Given the description of an element on the screen output the (x, y) to click on. 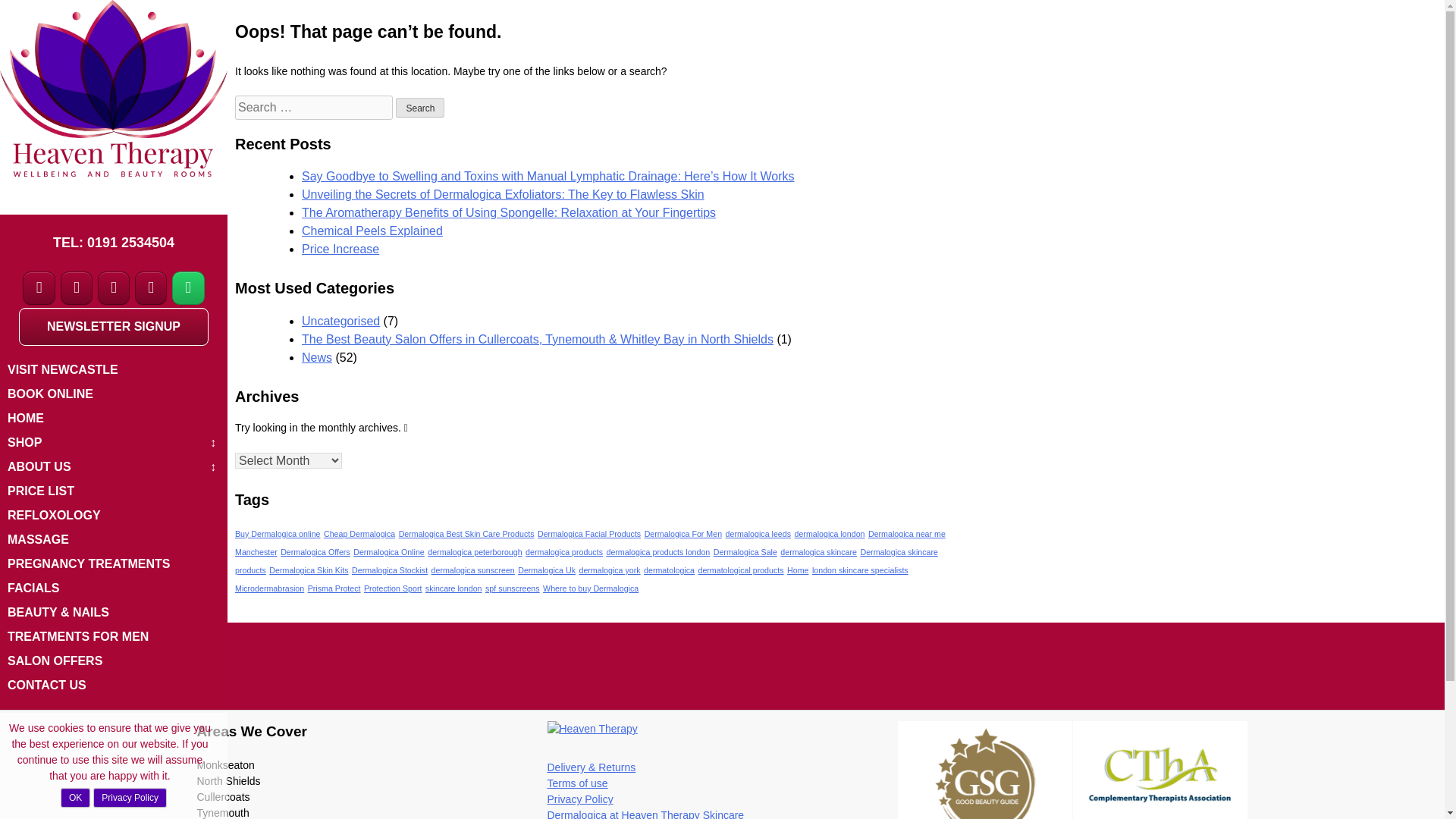
Good Salon Guide (985, 770)
PREGNANCY TREATMENTS (113, 564)
Search (420, 107)
Search (420, 107)
PRICE LIST (113, 491)
MASSAGE (113, 539)
I accept the terms. Please don't show me this again. (75, 797)
TEL: 0191 2534504 (113, 242)
WhatsApp (188, 288)
CONTACT US (113, 685)
Go to our Privacy Policy (130, 797)
Facebook (39, 288)
HOME (113, 418)
VISIT NEWCASTLE (113, 369)
